Given the description of an element on the screen output the (x, y) to click on. 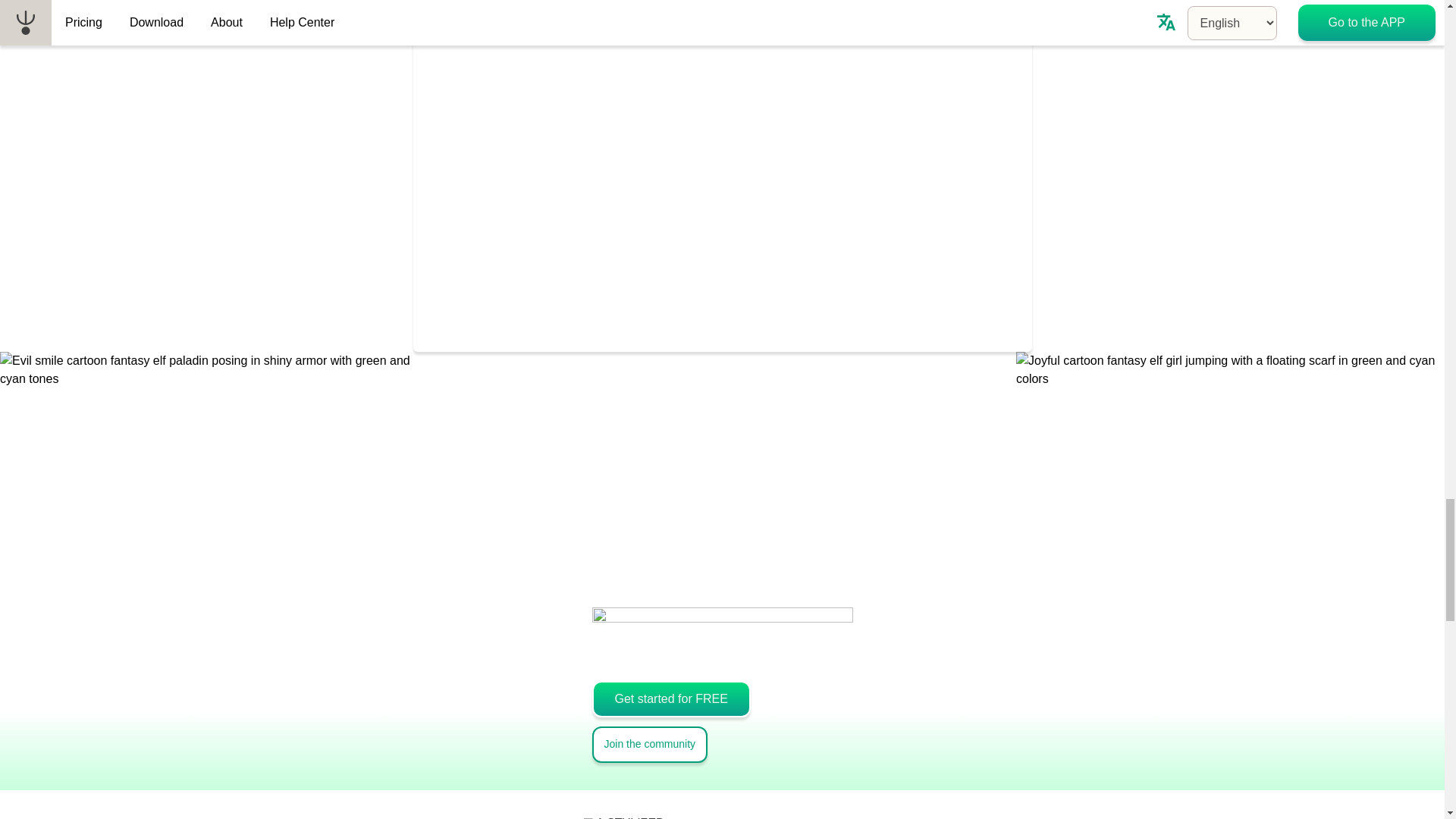
Get started for FREE (670, 698)
Join the community (649, 744)
